Given the description of an element on the screen output the (x, y) to click on. 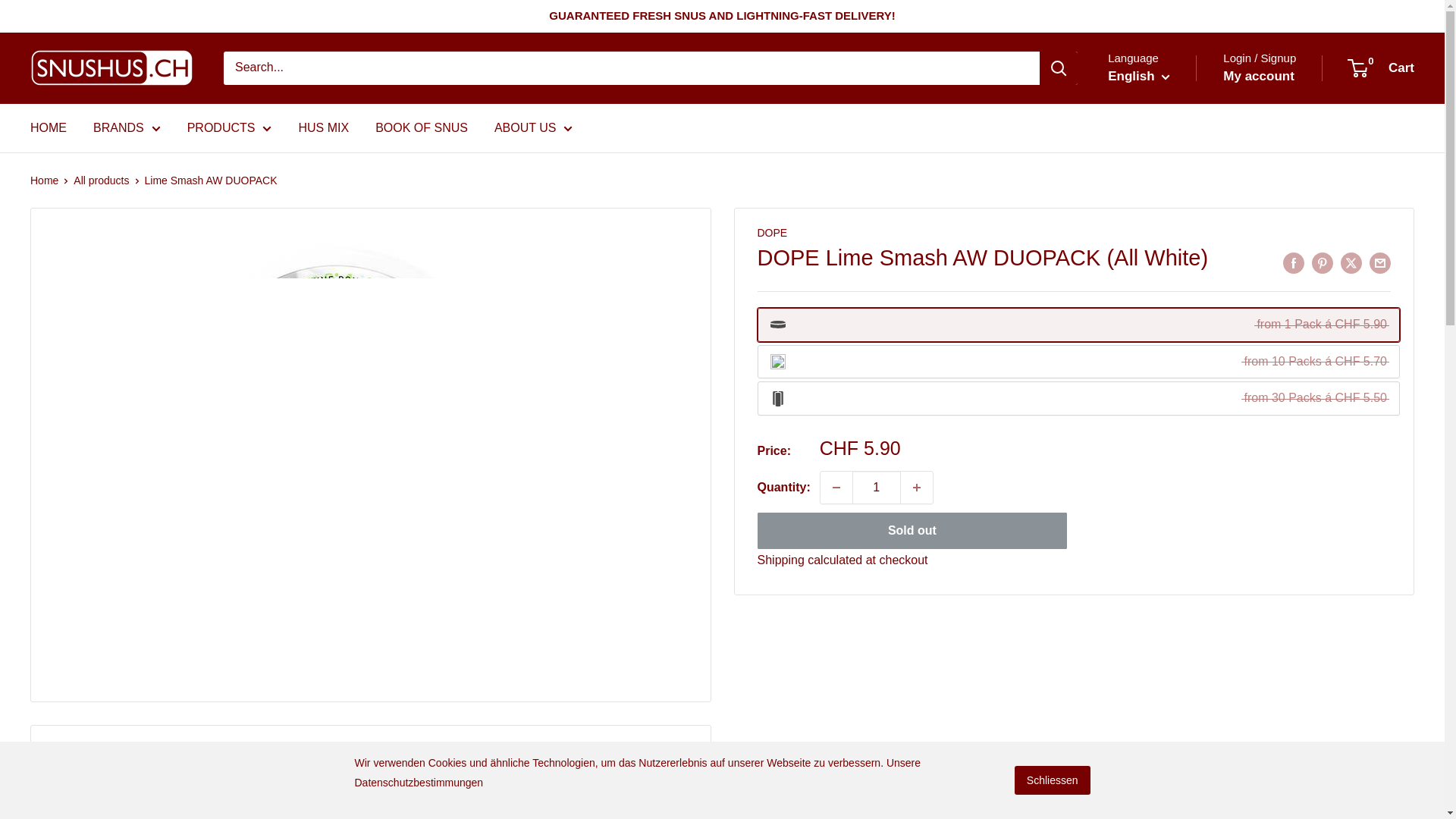
Lime Smash AW DUOPACK (1078, 360)
Chat (1406, 779)
Schliessen (1052, 779)
Lime Smash AW DUOPACK (1078, 324)
Decrease quantity by 1 (836, 487)
1 (876, 487)
Lime Smash AW DUOPACK (1078, 398)
Increase quantity by 1 (917, 487)
Unsere Datenschutzbestimmungen (638, 772)
